Given the description of an element on the screen output the (x, y) to click on. 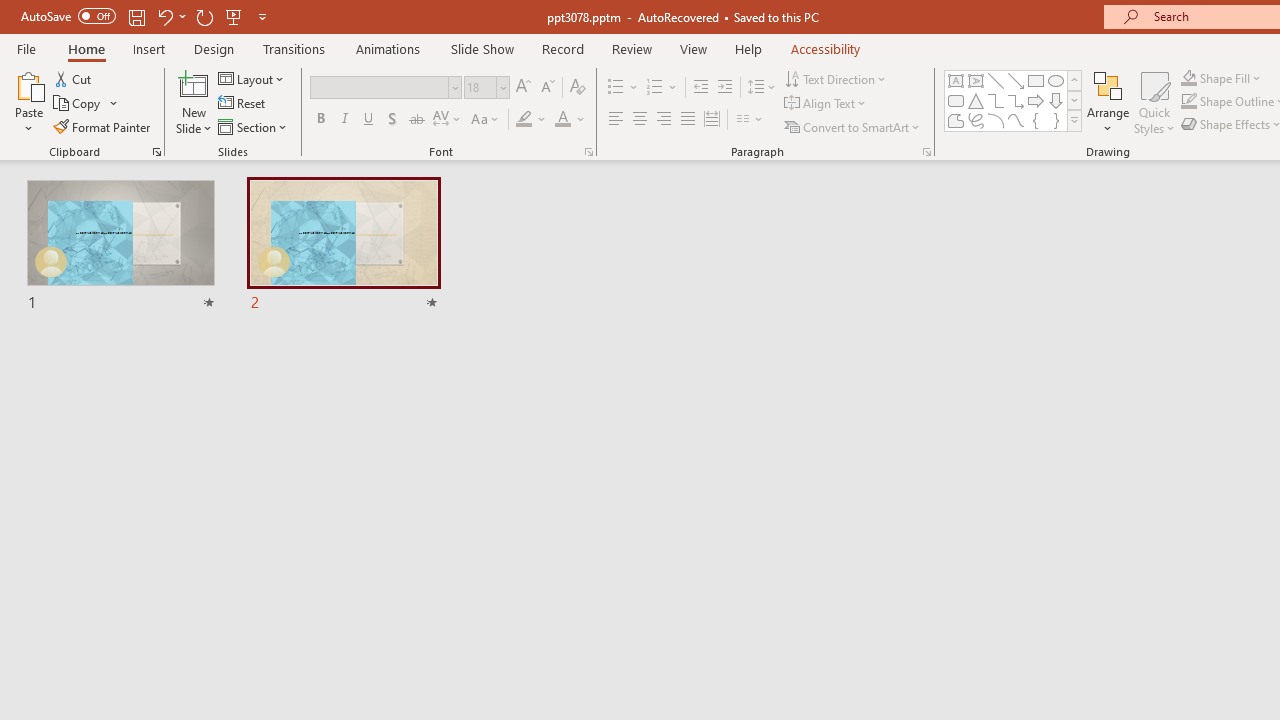
Run and Debug (Ctrl+Shift+D) (135, 622)
Adjust indents and spacing - Microsoft Support (42, 555)
